Given the description of an element on the screen output the (x, y) to click on. 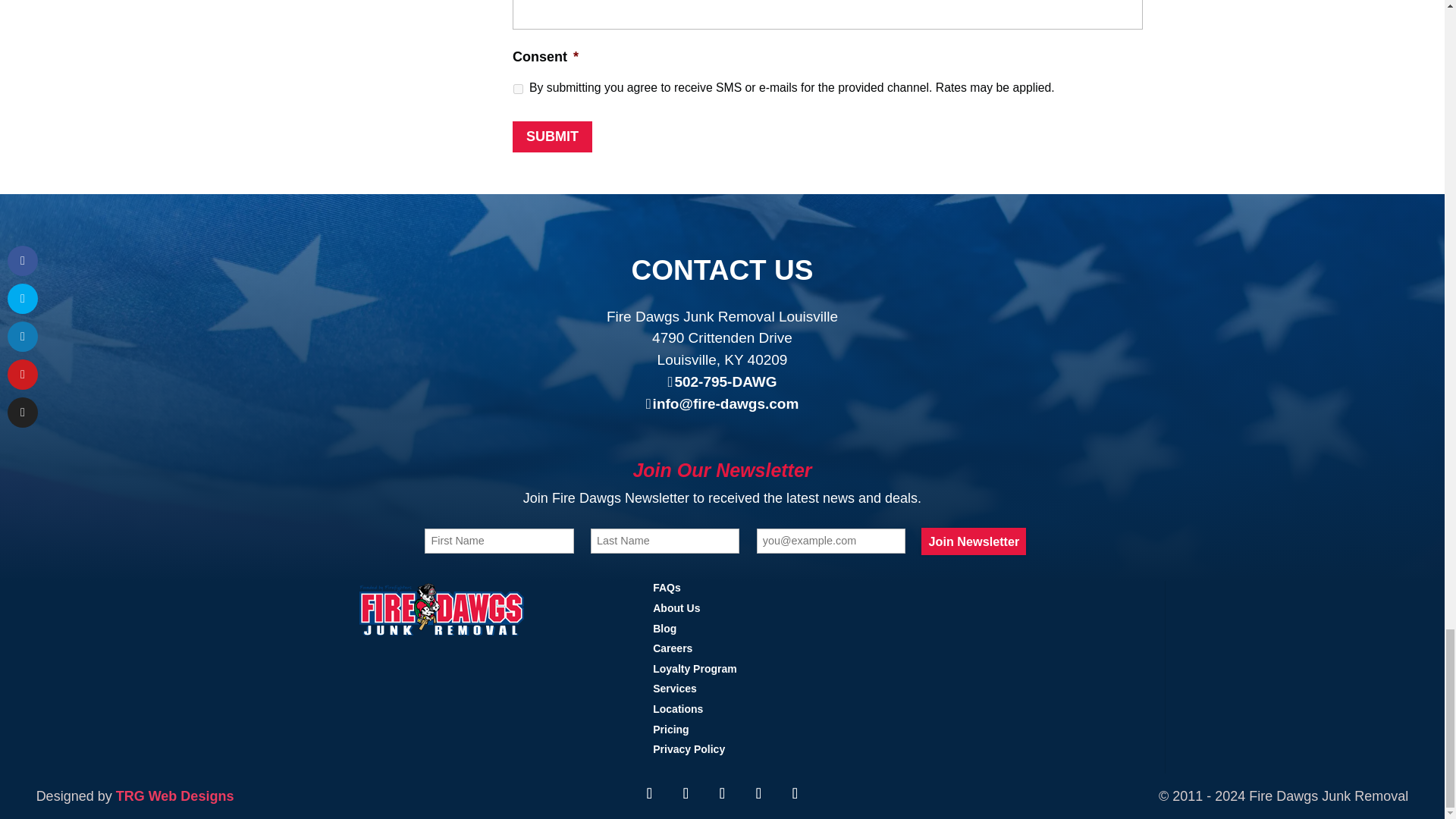
Join Newsletter (973, 541)
Follow on Youtube (793, 793)
Follow on Facebook (684, 793)
We create websites that engage! (175, 795)
Fire Dawgs Junk Removal Logo (441, 607)
Follow on X (648, 793)
Follow on Instagram (721, 793)
Submit (552, 136)
Follow on Pinterest (757, 793)
